Given the description of an element on the screen output the (x, y) to click on. 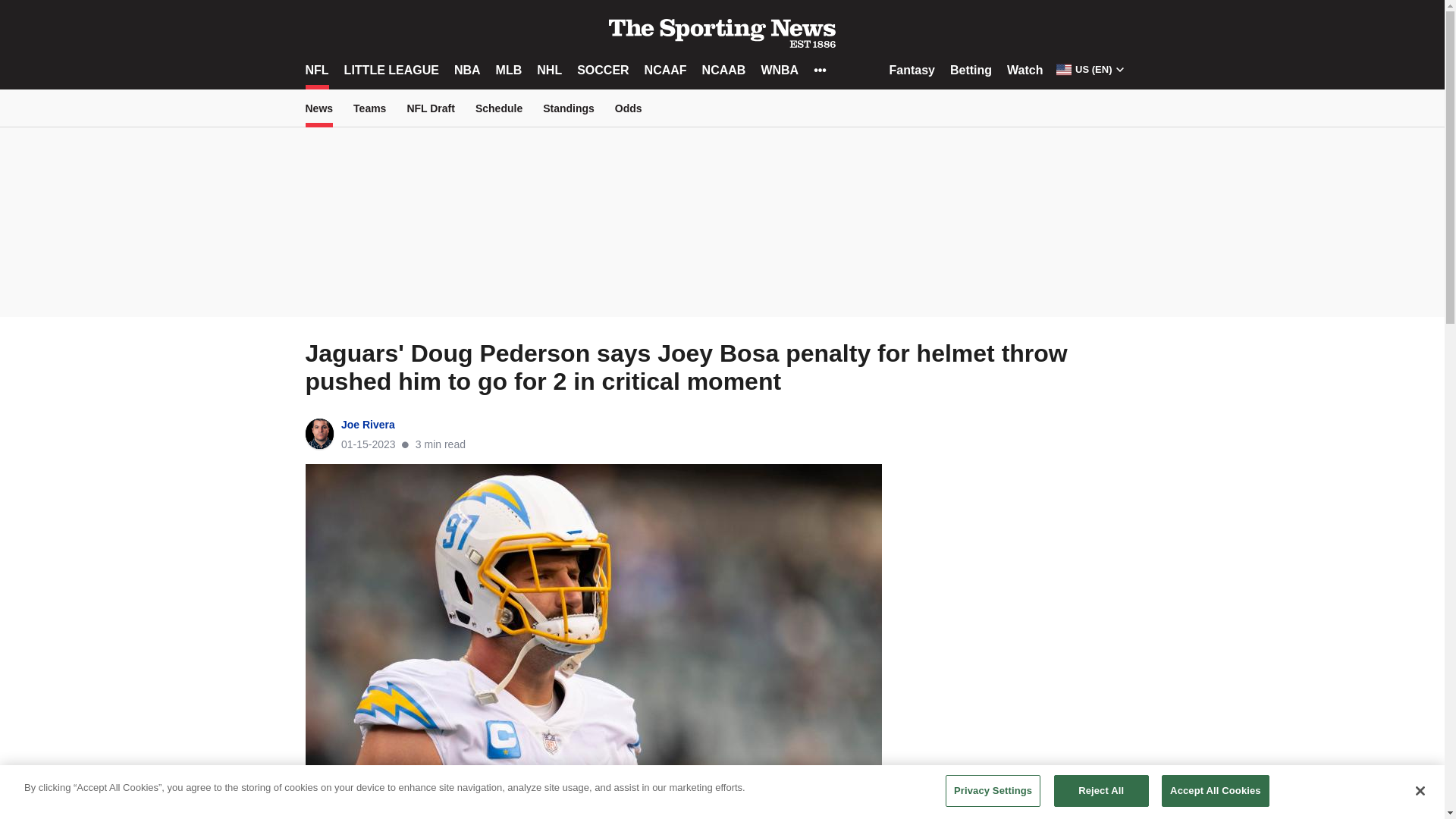
NCAAB (723, 70)
WNBA (778, 70)
SOCCER (602, 70)
LITTLE LEAGUE (391, 70)
NCAAF (666, 70)
